Given the description of an element on the screen output the (x, y) to click on. 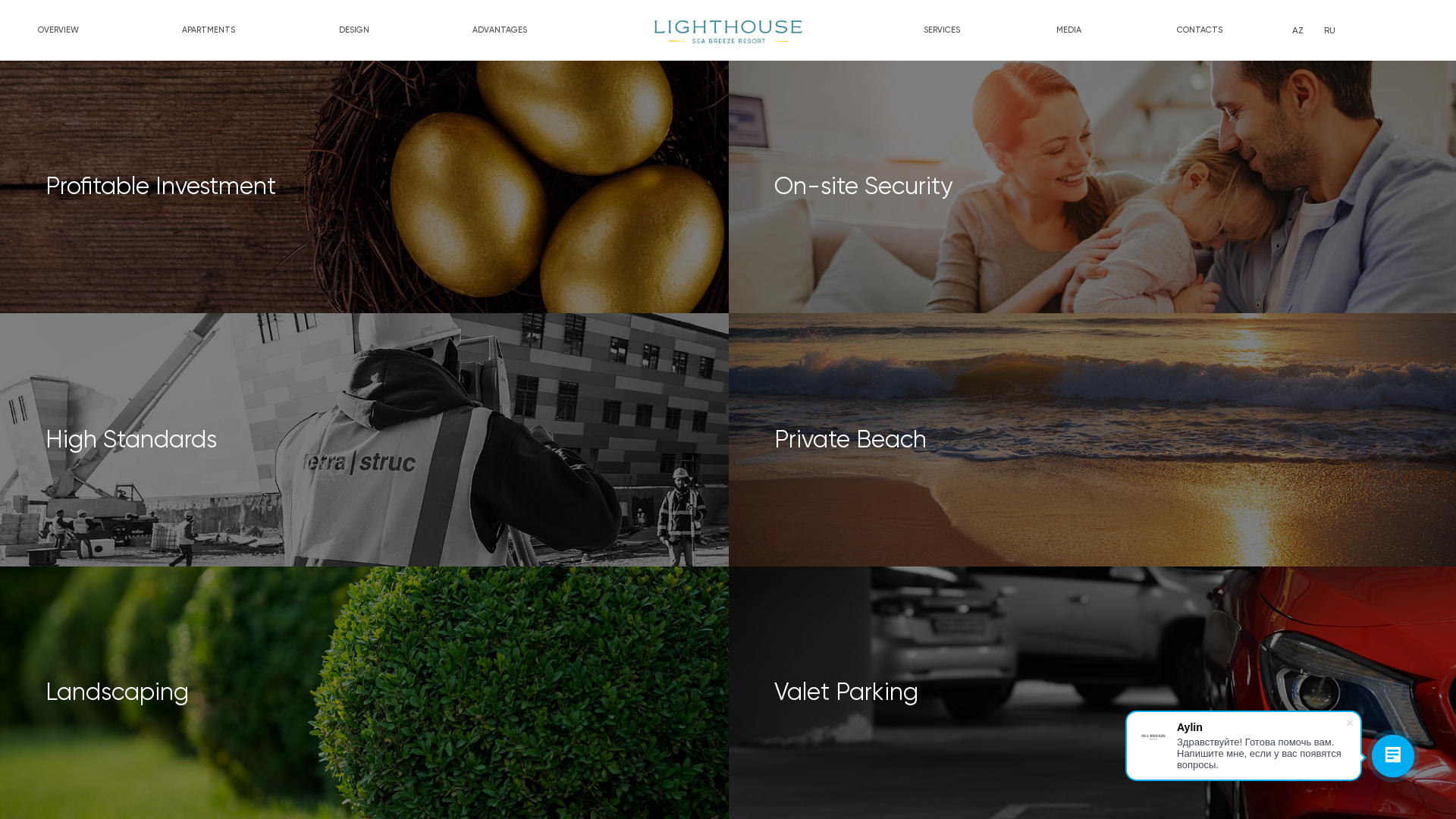
RU Element type: text (1329, 29)
CONTACTS Element type: text (1199, 29)
APARTMENTS Element type: text (208, 29)
ADVANTAGES Element type: text (499, 29)
MEDIA Element type: text (1068, 29)
High Standards Element type: text (365, 439)
DESIGN Element type: text (353, 29)
LIGHTHOUSE Element type: text (728, 31)
Profitable Investment Element type: text (365, 186)
AZ Element type: text (1297, 29)
OVERVIEW Element type: text (57, 29)
SERVICES Element type: text (941, 29)
